Given the description of an element on the screen output the (x, y) to click on. 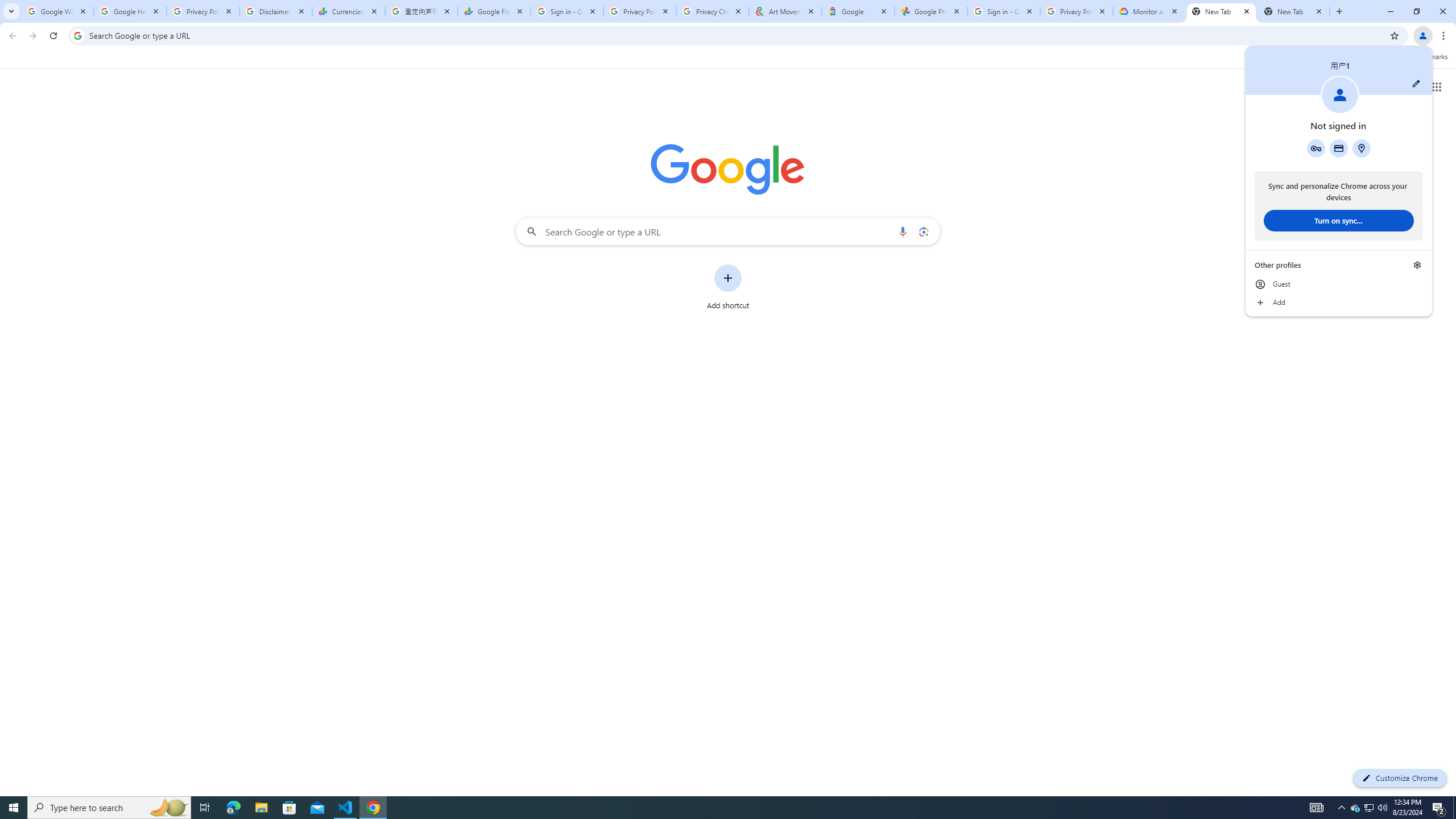
Customize profile (1415, 83)
Sign in - Google Accounts (566, 11)
Google Password Manager (1315, 148)
Guest (1338, 284)
Running applications (717, 807)
Show desktop (1454, 807)
Customize Chrome (1399, 778)
